Given the description of an element on the screen output the (x, y) to click on. 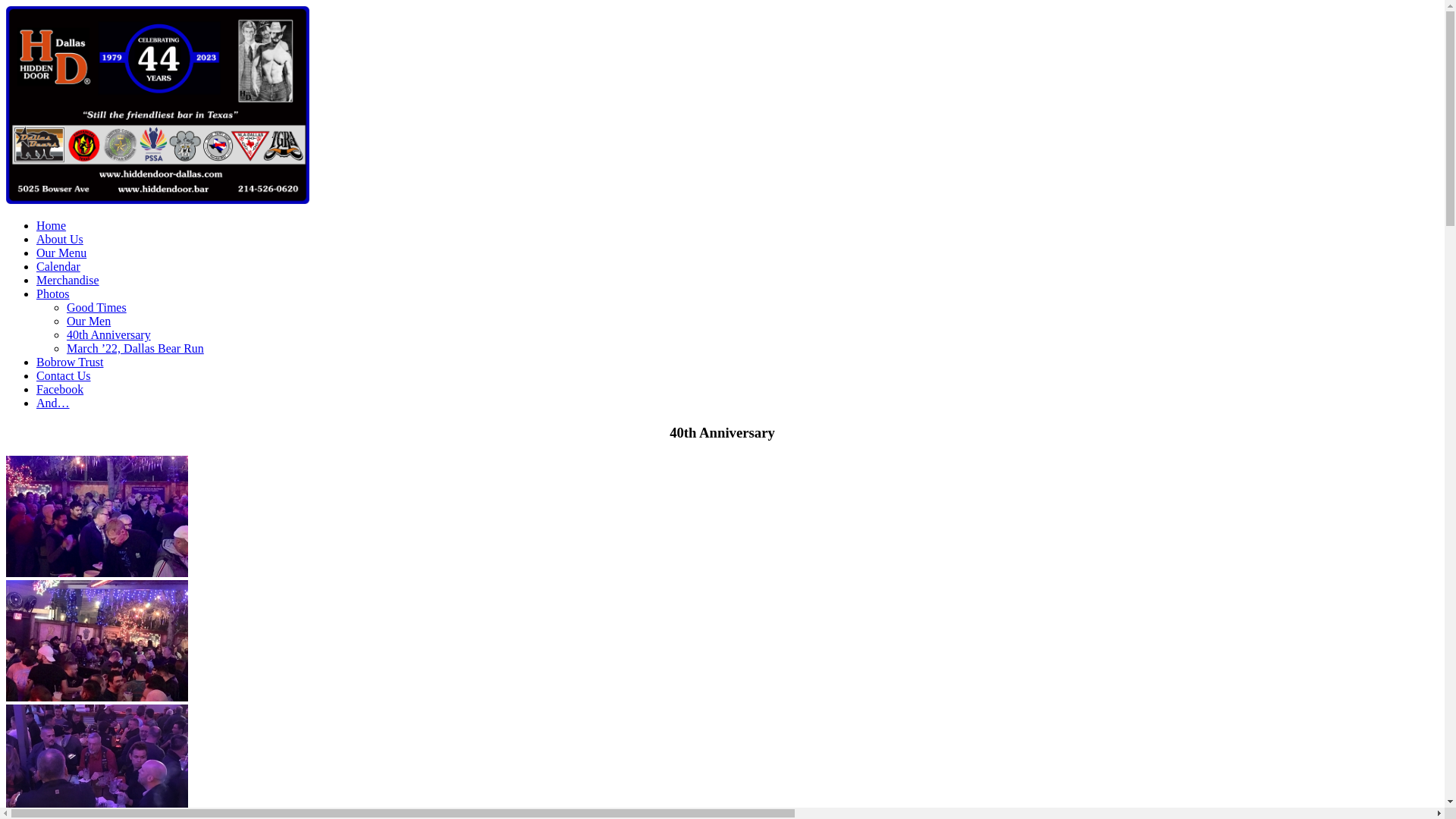
IMG_8666 Element type: hover (97, 640)
Bobrow Trust Element type: text (69, 361)
Merchandise Element type: text (67, 279)
Calendar Element type: text (58, 266)
Photos Element type: text (52, 293)
40th Anniversary Element type: text (108, 334)
Contact Us Element type: text (63, 375)
Good Times Element type: text (96, 307)
IMG_8664 Element type: hover (97, 516)
About Us Element type: text (59, 238)
Our Menu Element type: text (61, 252)
Our Men Element type: text (88, 320)
Home Element type: text (50, 225)
Facebook Element type: text (59, 388)
